Given the description of an element on the screen output the (x, y) to click on. 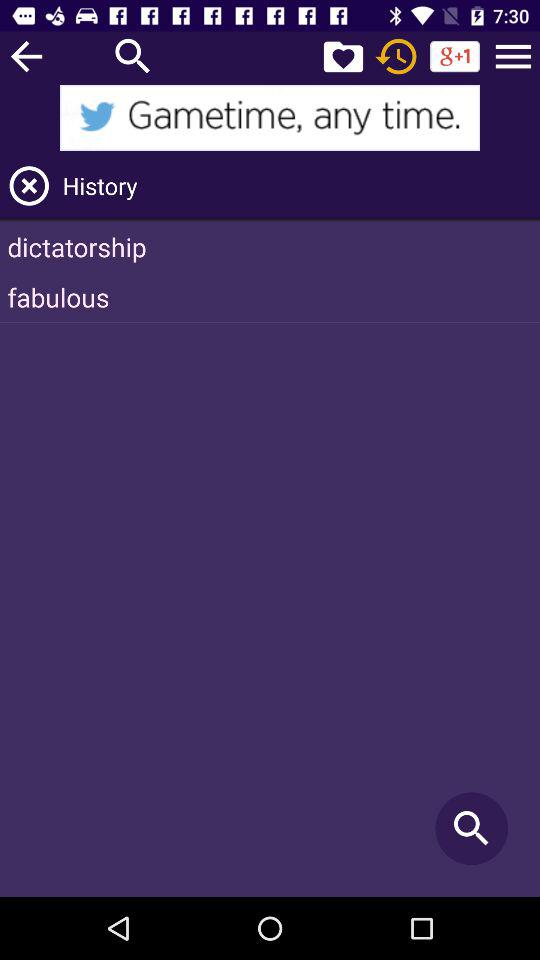
press icon above history item (513, 56)
